Given the description of an element on the screen output the (x, y) to click on. 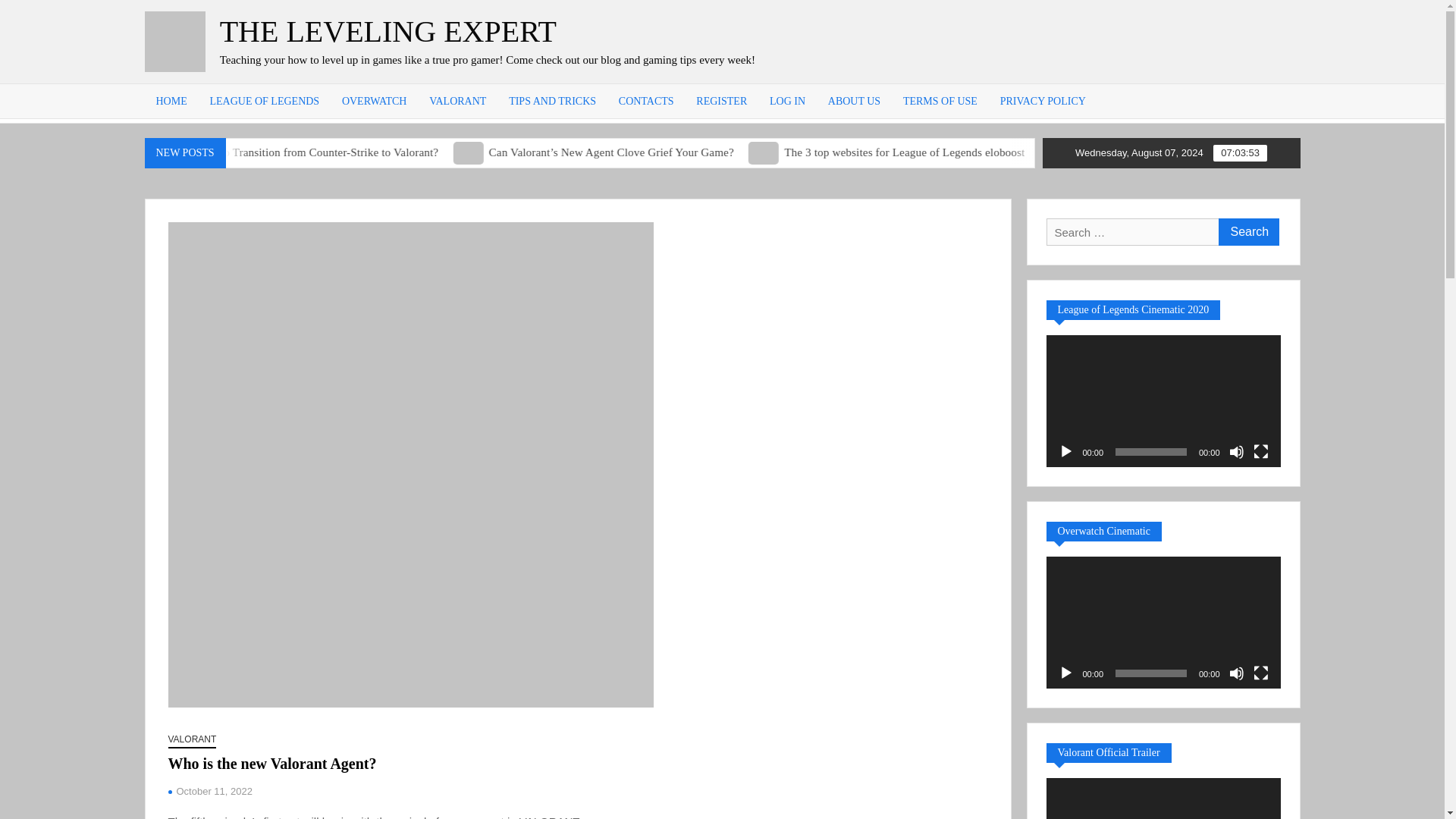
How to Transition from Counter-Strike to Valorant? (308, 151)
The 3 top websites for League of Legends eloboost (888, 151)
Search (1247, 231)
Valorant will have Replay sistem finally! (183, 152)
PRIVACY POLICY (1042, 100)
THE LEVELING EXPERT (387, 31)
The 3 top websites for League of Legends eloboost (1027, 152)
ABOUT US (853, 100)
TIPS AND TRICKS (552, 100)
LOG IN (787, 100)
REGISTER (721, 100)
Valorant will have Replay sistem finally! (200, 152)
How to Transition from Counter-Strike to Valorant? (466, 152)
TERMS OF USE (939, 100)
CONTACTS (646, 100)
